Given the description of an element on the screen output the (x, y) to click on. 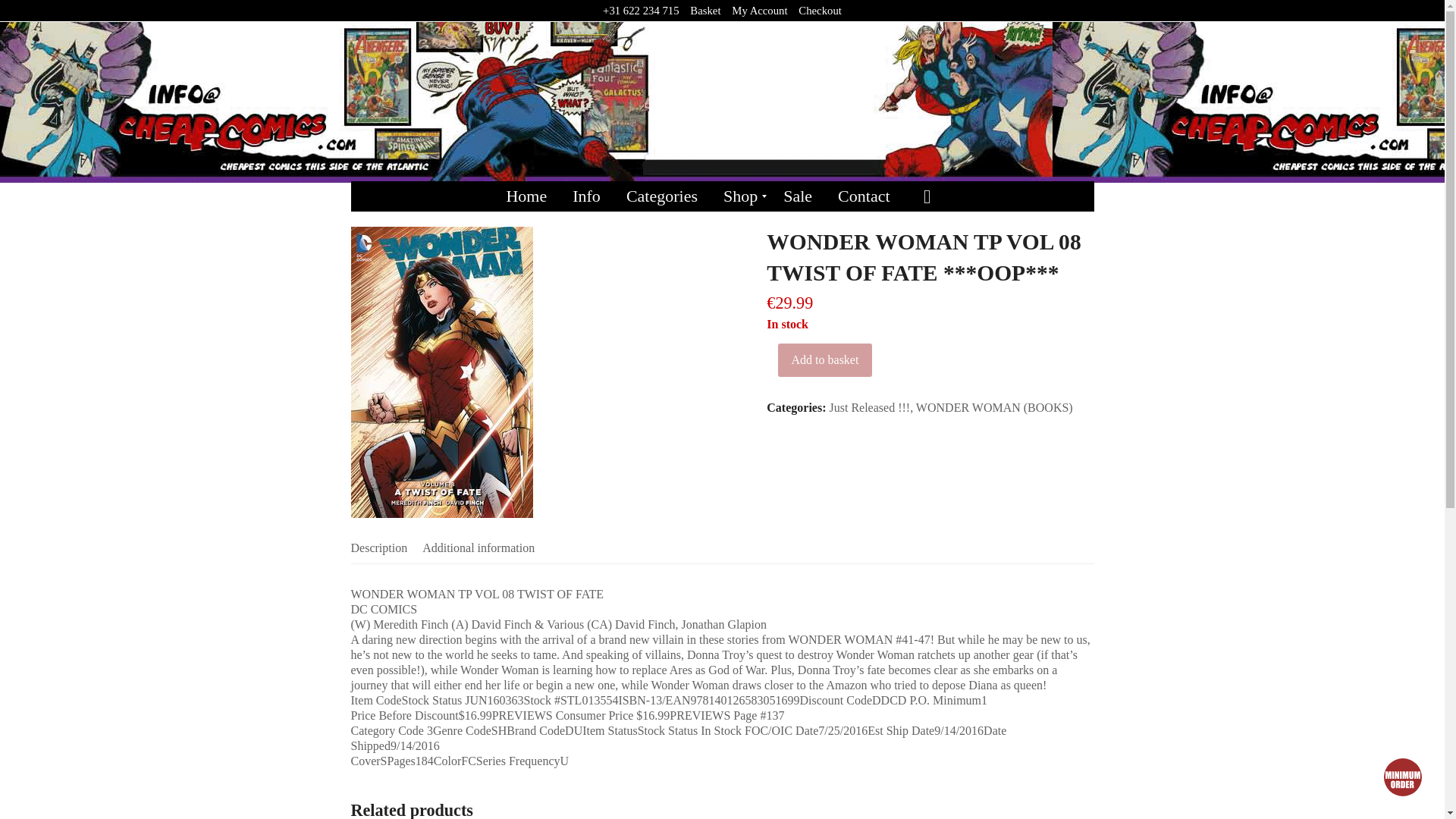
Add to basket (823, 359)
Info (585, 195)
My Account (759, 10)
Additional information (478, 548)
Contact (863, 195)
Checkout (819, 10)
Shop (740, 195)
Sale (797, 195)
Description (378, 548)
Categories (661, 195)
Basket (705, 10)
Just Released !!! (870, 407)
Home (526, 195)
